Given the description of an element on the screen output the (x, y) to click on. 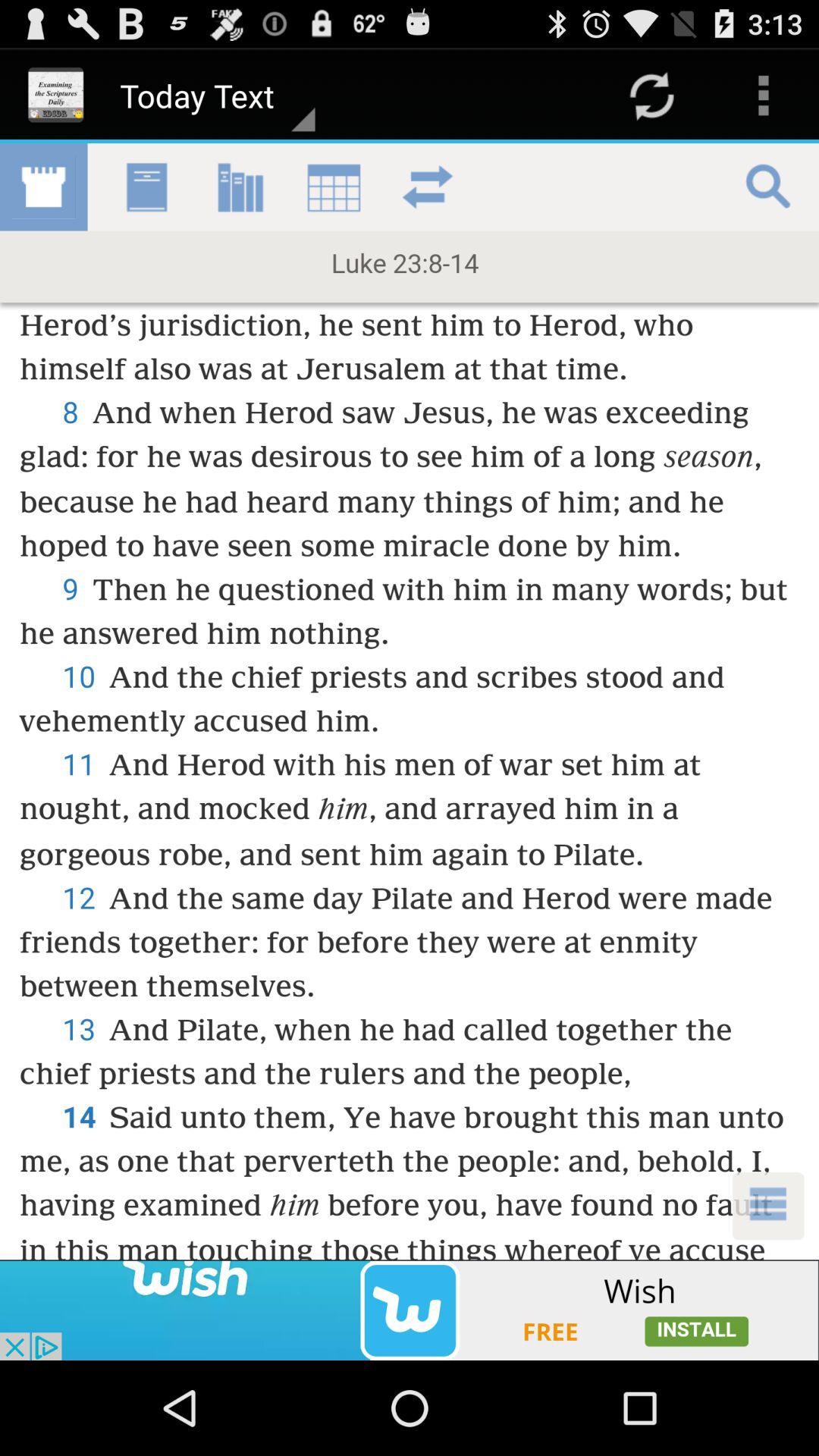
read text (409, 701)
